Given the description of an element on the screen output the (x, y) to click on. 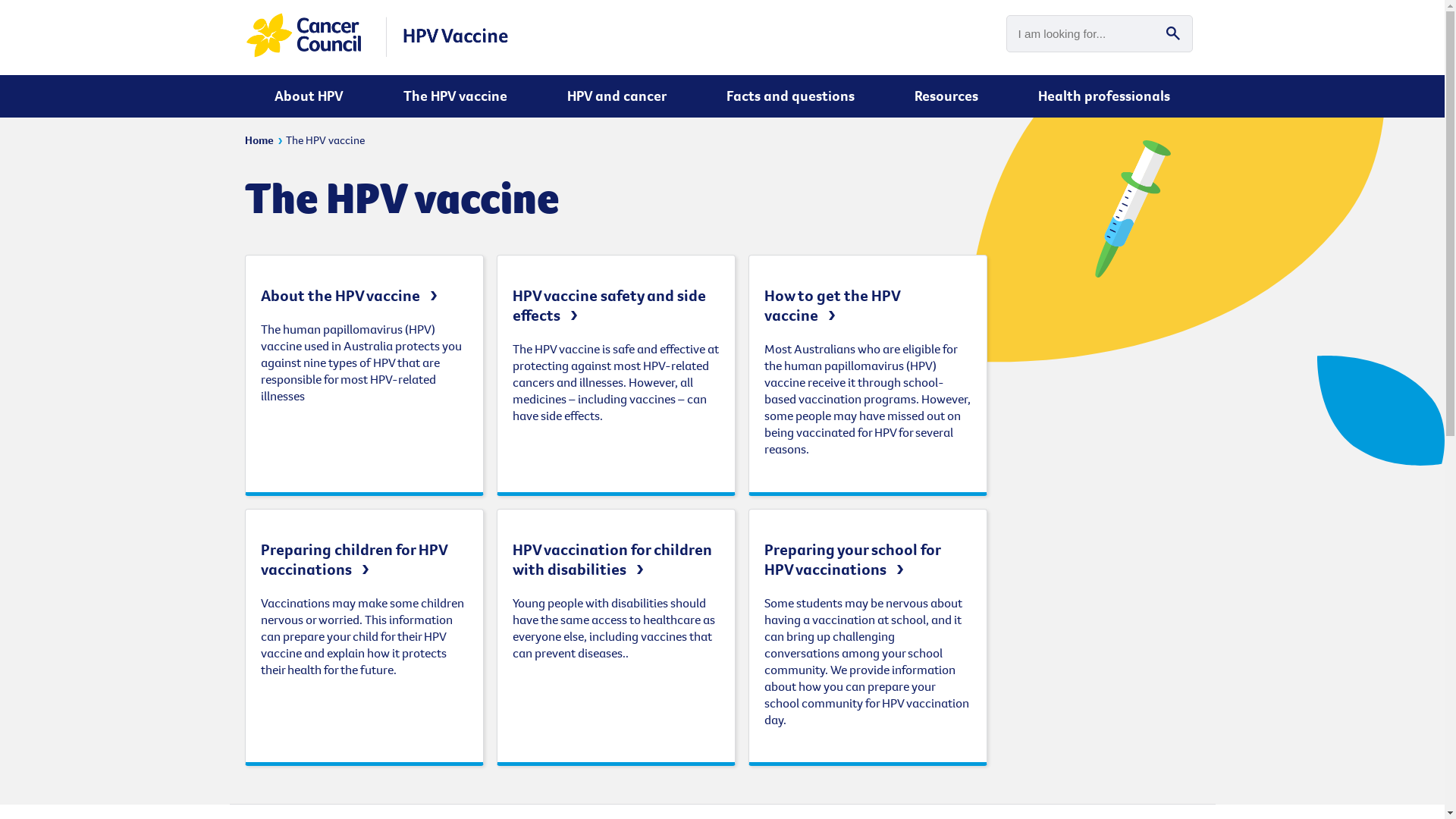
About the HPV vaccine Element type: text (351, 295)
Facts and questions Element type: text (790, 97)
Resources Element type: text (946, 97)
Preparing children for HPV vaccinations Element type: text (354, 559)
HPV vaccination for children with disabilities Element type: text (612, 559)
The HPV vaccine Element type: text (324, 139)
Preparing your school for HPV vaccinations Element type: text (852, 559)
Return to the home page Element type: hover (376, 54)
Search Element type: text (1173, 33)
How to get the HPV vaccine Element type: text (832, 305)
HPV and cancer Element type: text (616, 97)
Home Element type: text (258, 139)
About HPV Element type: text (308, 97)
The HPV vaccine Element type: text (455, 97)
Health professionals Element type: text (1104, 97)
HPV vaccine safety and side effects Element type: text (609, 305)
